Given the description of an element on the screen output the (x, y) to click on. 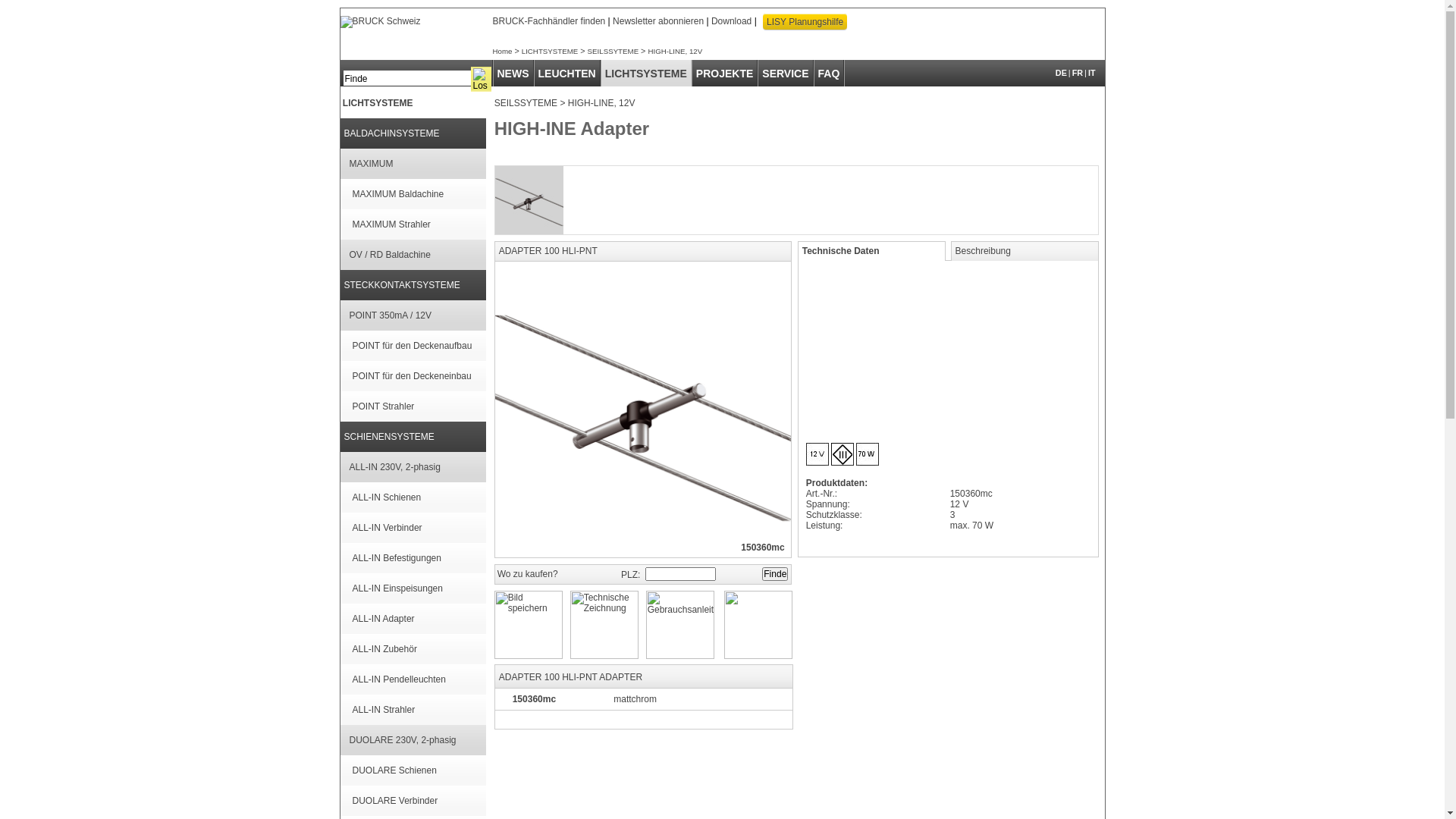
SERVICE Element type: text (785, 73)
NEWS Element type: text (513, 73)
IT Element type: text (1091, 72)
ALL-IN Schienen Element type: text (385, 497)
POINT 350mA / 12V Element type: text (389, 315)
HIGH-LINE, 12V Element type: text (674, 51)
ALL-IN Einspeisungen Element type: text (396, 588)
HIGH-LINE, 12V Element type: text (601, 102)
DUOLARE Verbinder Element type: text (394, 800)
SCHIENENSYSTEME Element type: text (389, 436)
  Element type: text (495, 734)
Finde Element type: text (406, 77)
ALL-IN Befestigungen Element type: text (395, 557)
ADAPTER_100_HLI-PNT Element type: hover (529, 200)
SEILSSYTEME Element type: text (613, 51)
MAXIMUM Baldachine Element type: text (397, 193)
Download Element type: text (731, 20)
ALL-IN 230V, 2-phasig Element type: text (393, 466)
FAQ Element type: text (829, 73)
SEILSSYTEME Element type: text (525, 102)
Gebrauchsanleitung Element type: hover (680, 624)
Newsletter abonnieren Element type: text (657, 20)
BRUCK Schweiz Element type: hover (379, 21)
MAXIMUM Strahler Element type: text (390, 224)
150360mc Element type: text (533, 698)
Home Element type: text (502, 51)
LICHTSYSTEME Element type: text (549, 51)
LISY Planungshilfe Element type: text (804, 21)
BALDACHINSYSTEME Element type: text (391, 133)
Schutzklasse 3 Element type: hover (842, 453)
Bild speichern Element type: hover (528, 624)
OV / RD Baldachine Element type: text (388, 254)
ALL-IN Pendelleuchten Element type: text (398, 679)
DUOLARE Schienen Element type: text (393, 770)
POINT Strahler Element type: text (382, 406)
Finde Element type: text (774, 573)
PROJEKTE Element type: text (724, 73)
LEUCHTEN Element type: text (567, 73)
DE Element type: text (1061, 72)
DUOLARE 230V, 2-phasig Element type: text (401, 739)
ALL-IN Verbinder Element type: text (386, 527)
LICHTSYSTEME Element type: text (646, 73)
FR Element type: text (1077, 72)
ALL-IN Adapter Element type: text (382, 618)
STECKKONTAKTSYSTEME Element type: text (402, 284)
Technische Zeichnung Element type: hover (604, 624)
MAXIMUM Element type: text (370, 163)
ALL-IN Strahler Element type: text (382, 709)
Max. Wattage Element type: hover (867, 453)
